Given the description of an element on the screen output the (x, y) to click on. 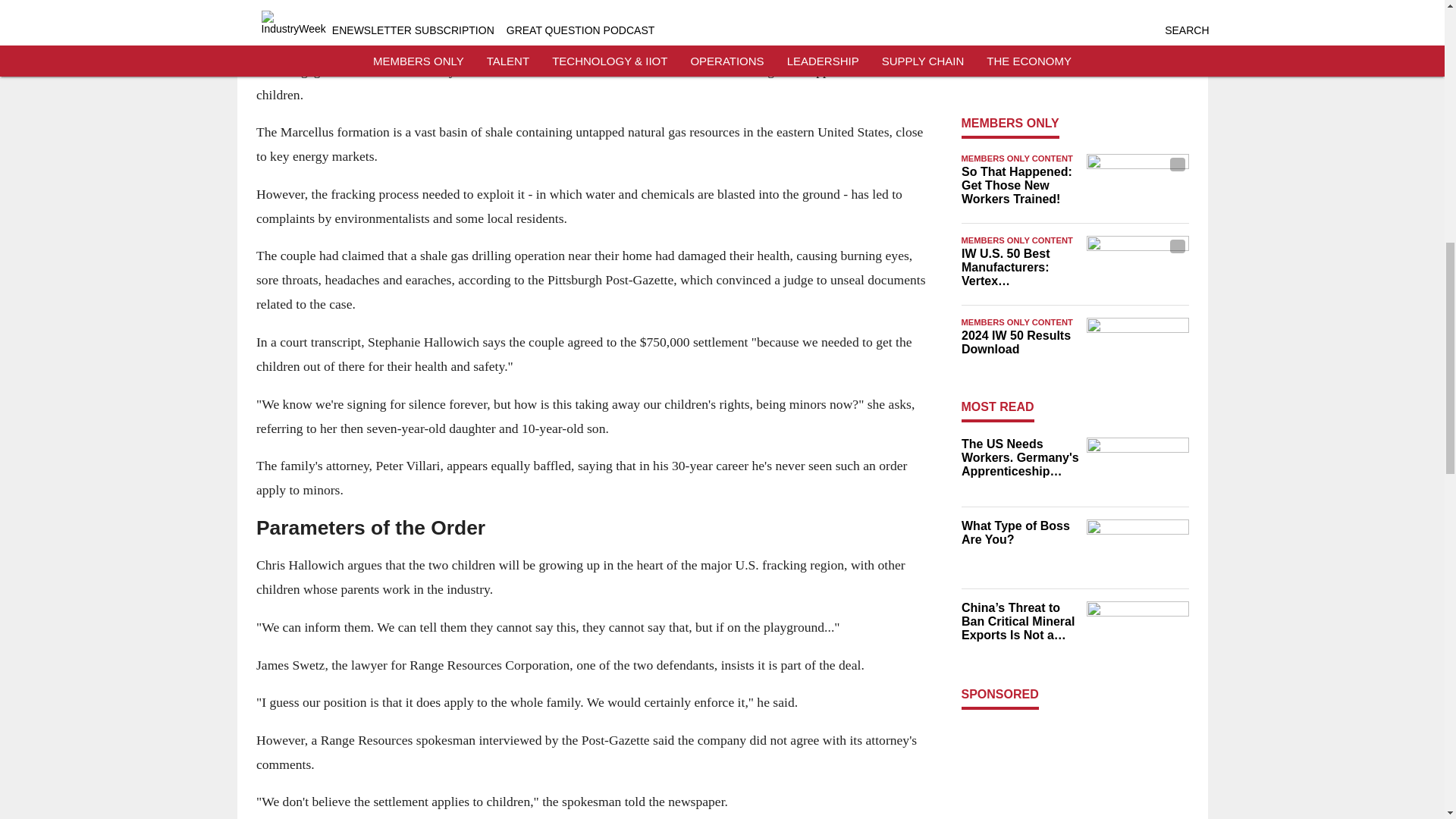
2024 IW 50 Results Download (1019, 342)
MEMBERS ONLY (1009, 123)
So That Happened: Get Those New Workers Trained! (1019, 185)
